Given the description of an element on the screen output the (x, y) to click on. 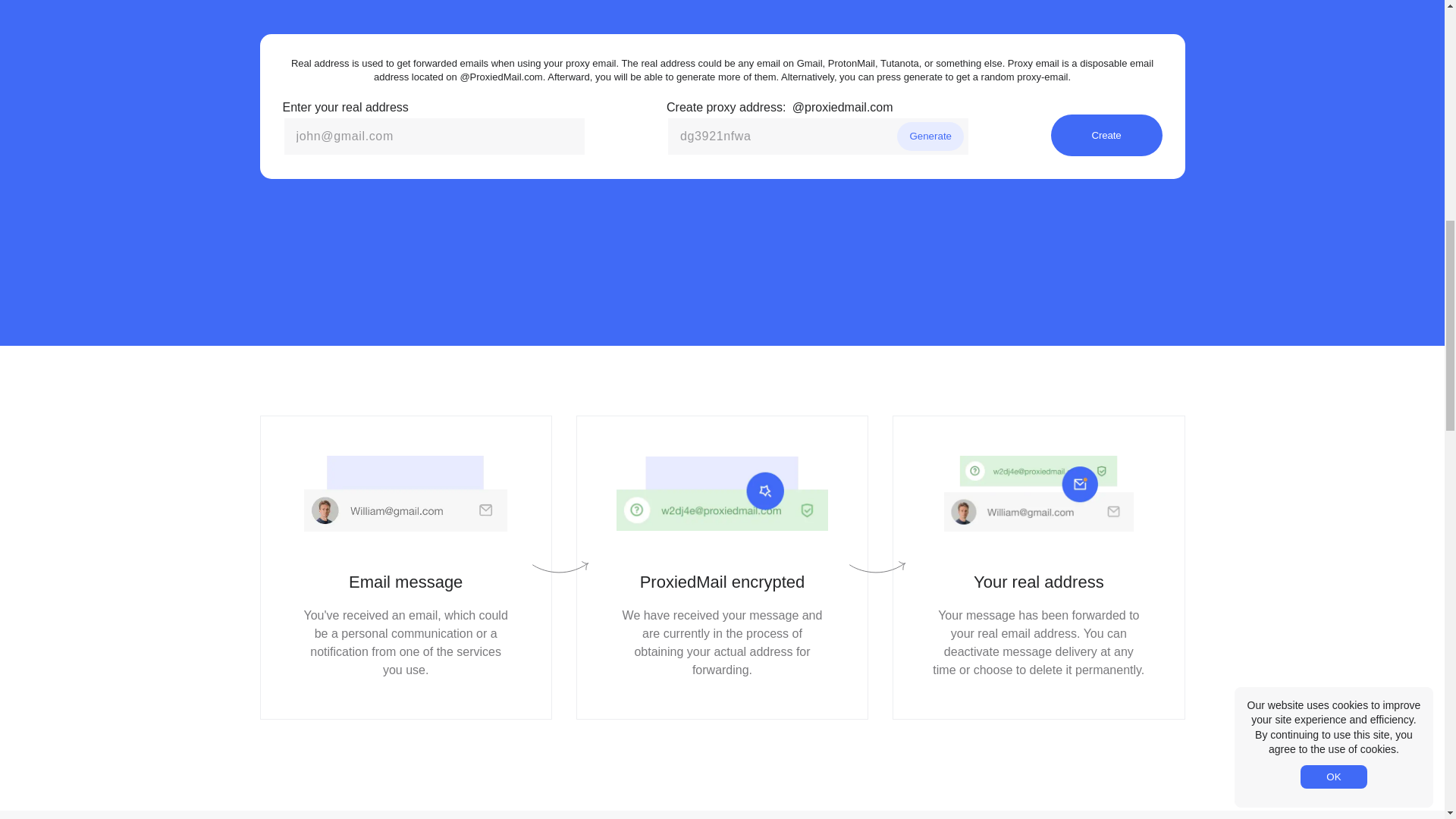
Generate (929, 136)
Create (1106, 134)
